Given the description of an element on the screen output the (x, y) to click on. 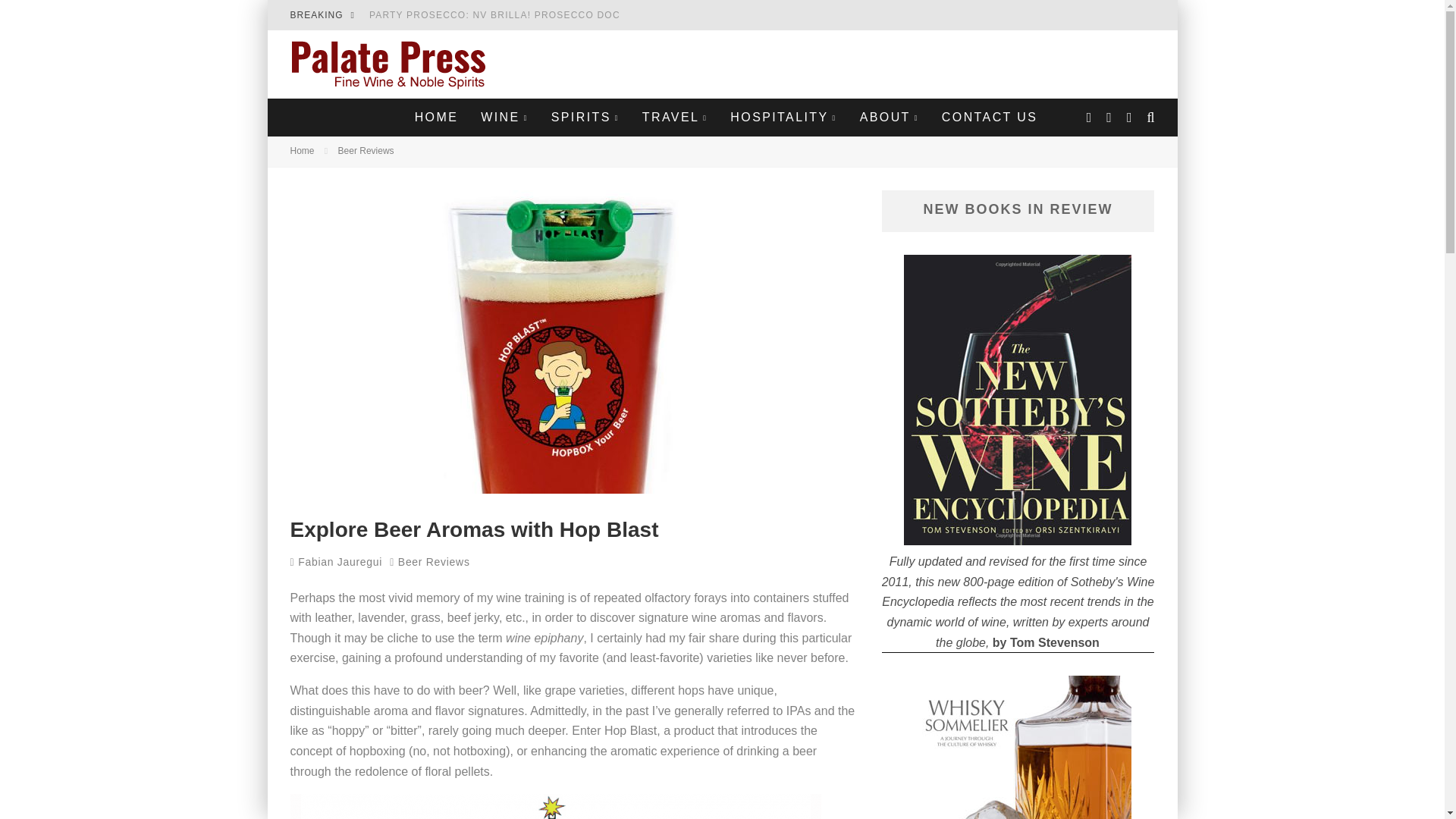
HOME (436, 117)
Party Prosecco: NV Brilla! Prosecco DOC (494, 14)
SPIRITS (585, 117)
PARTY PROSECCO: NV BRILLA! PROSECCO DOC (494, 14)
WINE (503, 117)
